Given the description of an element on the screen output the (x, y) to click on. 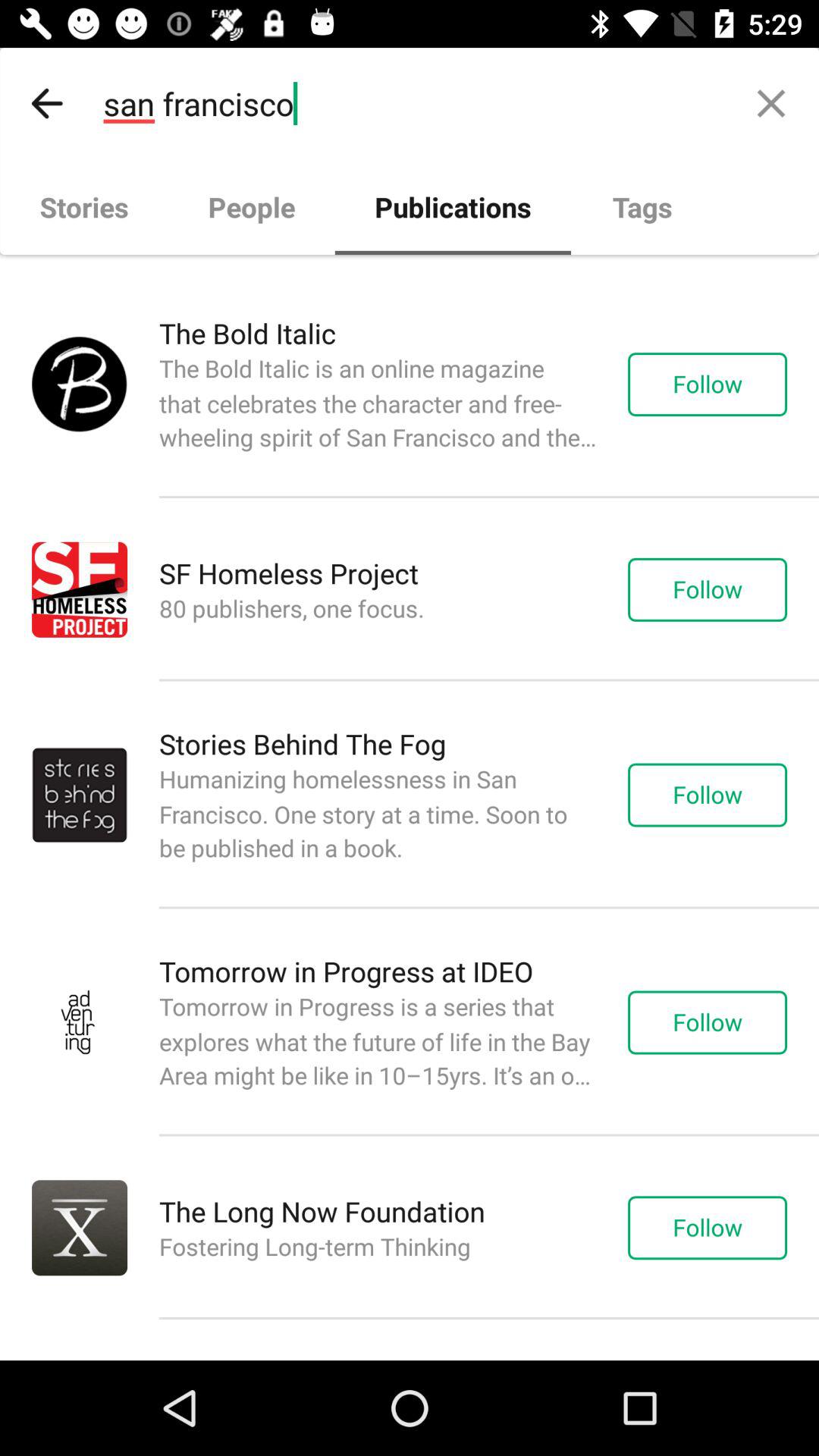
select item next to san francisco icon (771, 103)
